Given the description of an element on the screen output the (x, y) to click on. 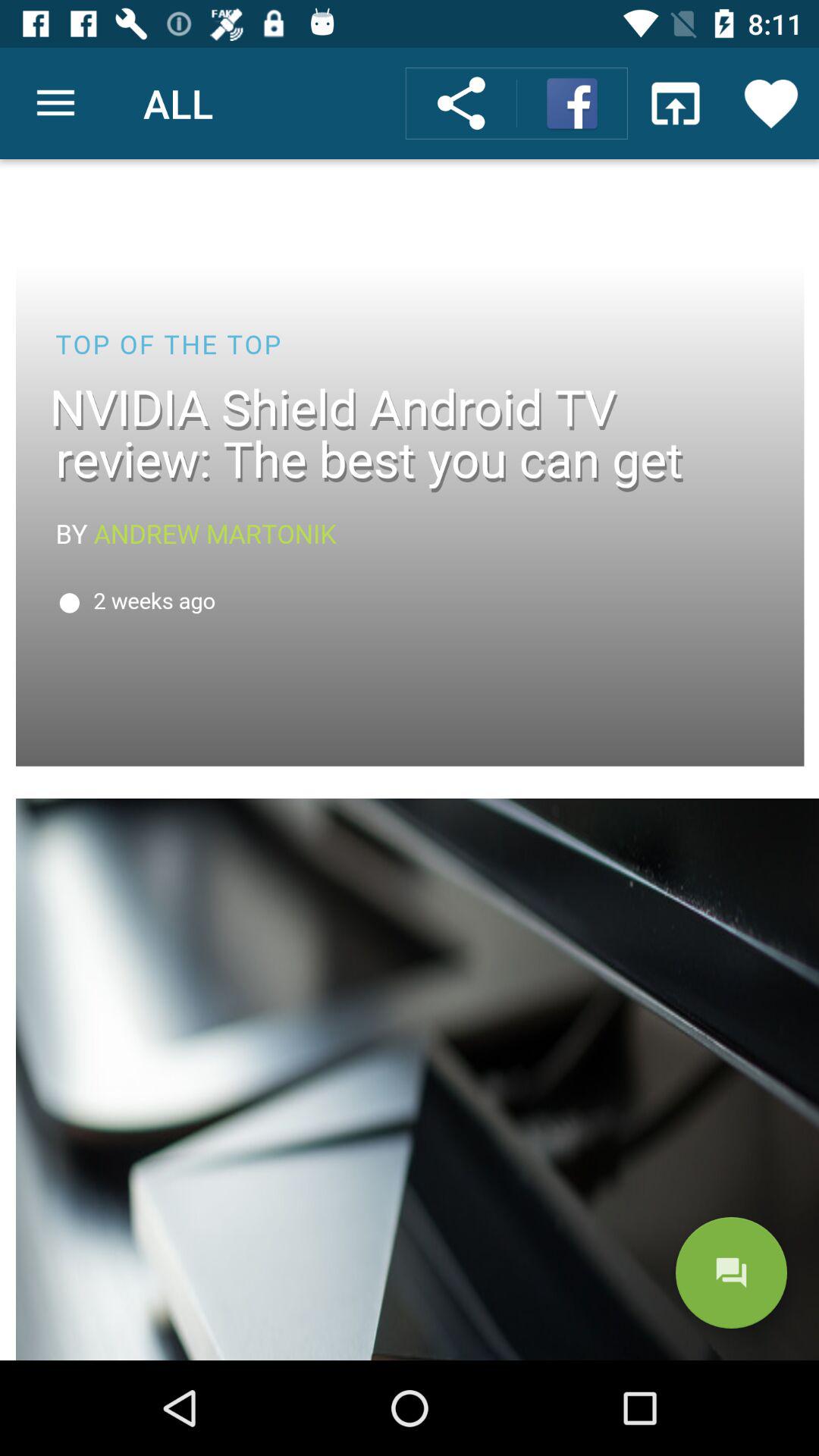
web page and application page (409, 759)
